Given the description of an element on the screen output the (x, y) to click on. 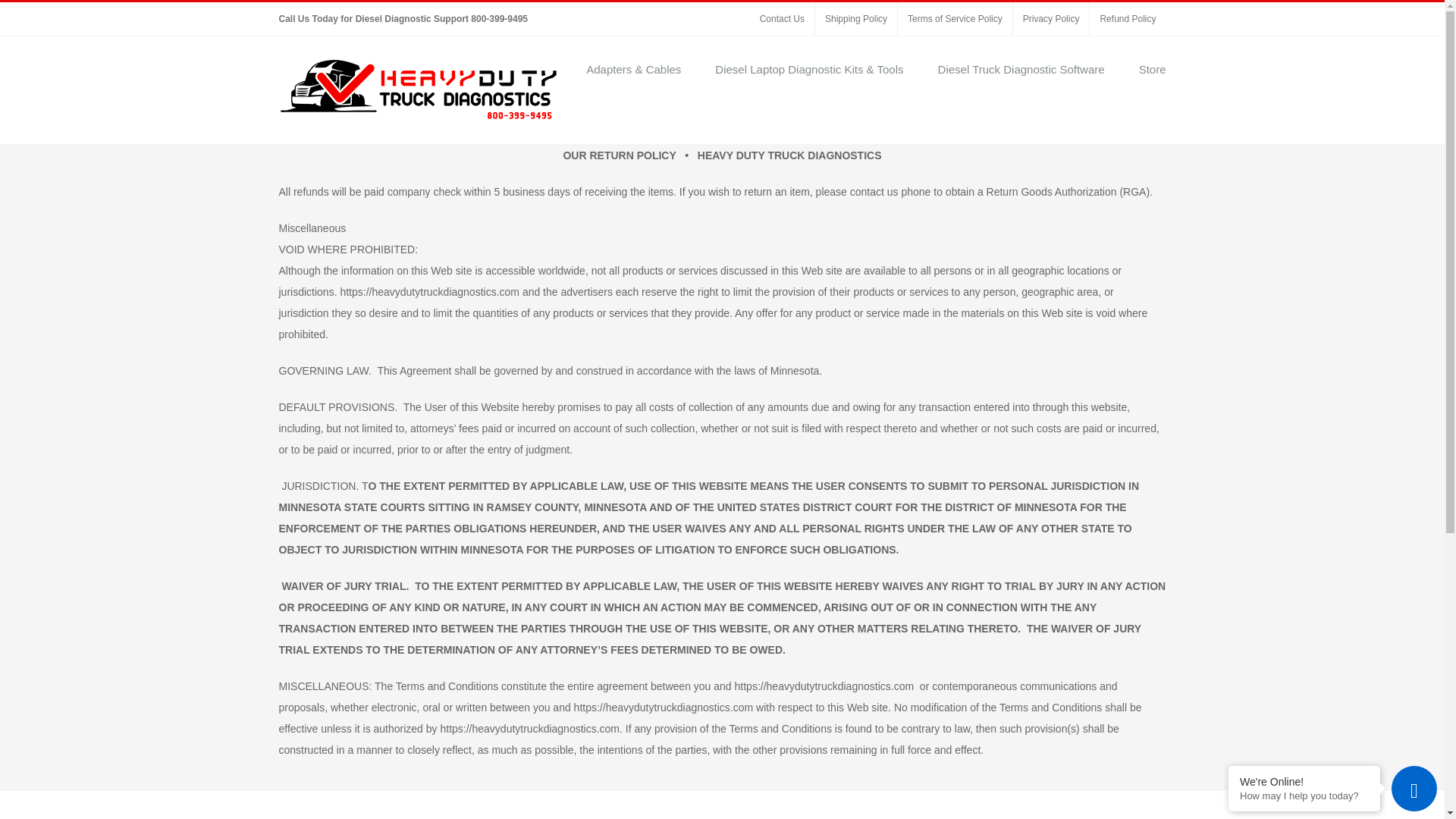
Diesel Truck Diagnostic Software (1021, 67)
Terms of Service Policy (954, 19)
Shipping Policy (855, 19)
Contact Us (781, 19)
Privacy Policy (1051, 19)
We're Online! (1304, 781)
Refund Policy (1127, 19)
How may I help you today? (1304, 795)
